Given the description of an element on the screen output the (x, y) to click on. 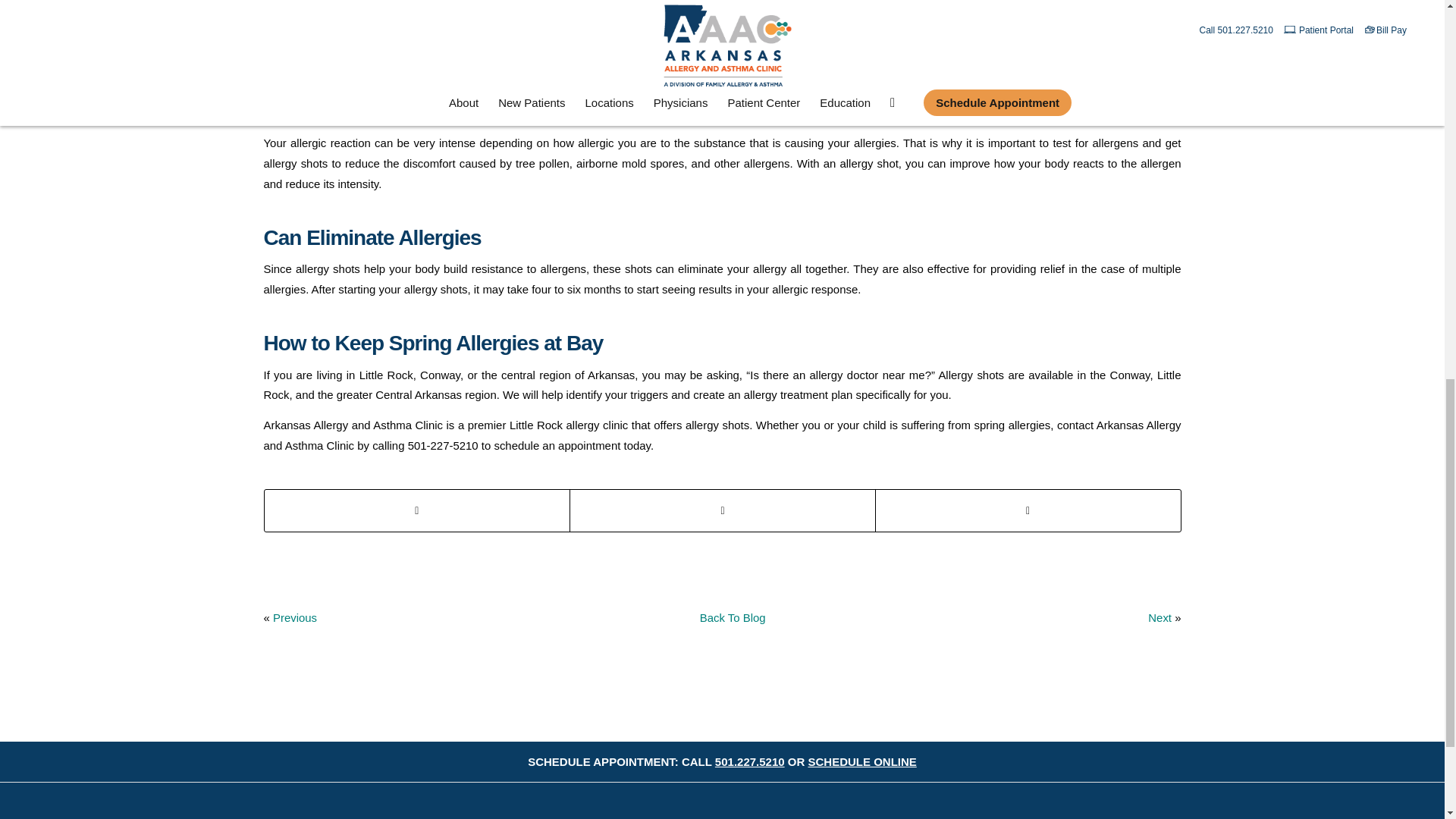
Previous (295, 617)
